Given the description of an element on the screen output the (x, y) to click on. 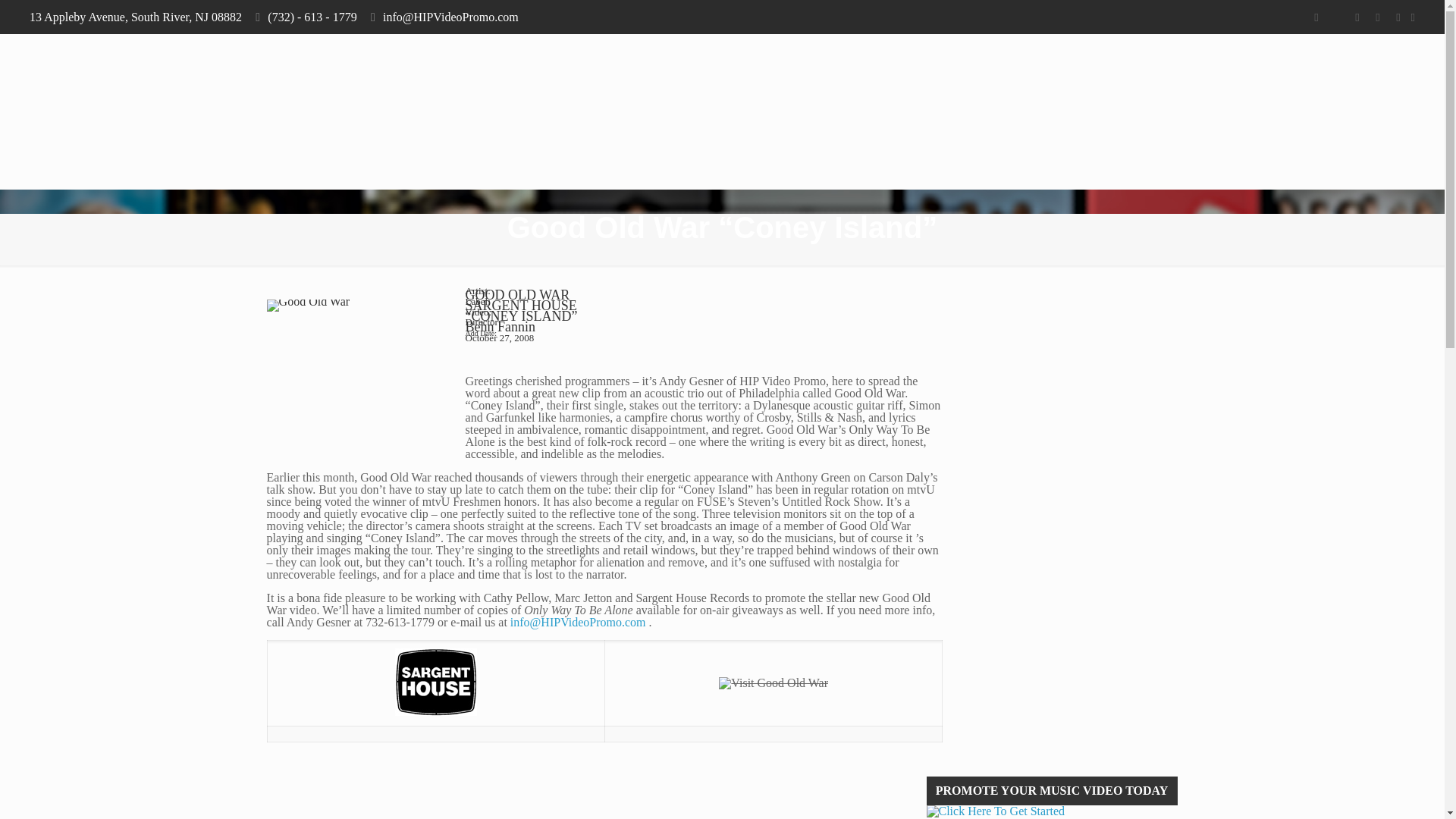
Twitter (1335, 17)
Spotify (1398, 17)
Click Here To Get Started (1051, 812)
Instagram (1378, 17)
YouTube (1357, 17)
13 Appleby Avenue, South River, NJ 08882 (135, 16)
Facebook (1315, 17)
